Given the description of an element on the screen output the (x, y) to click on. 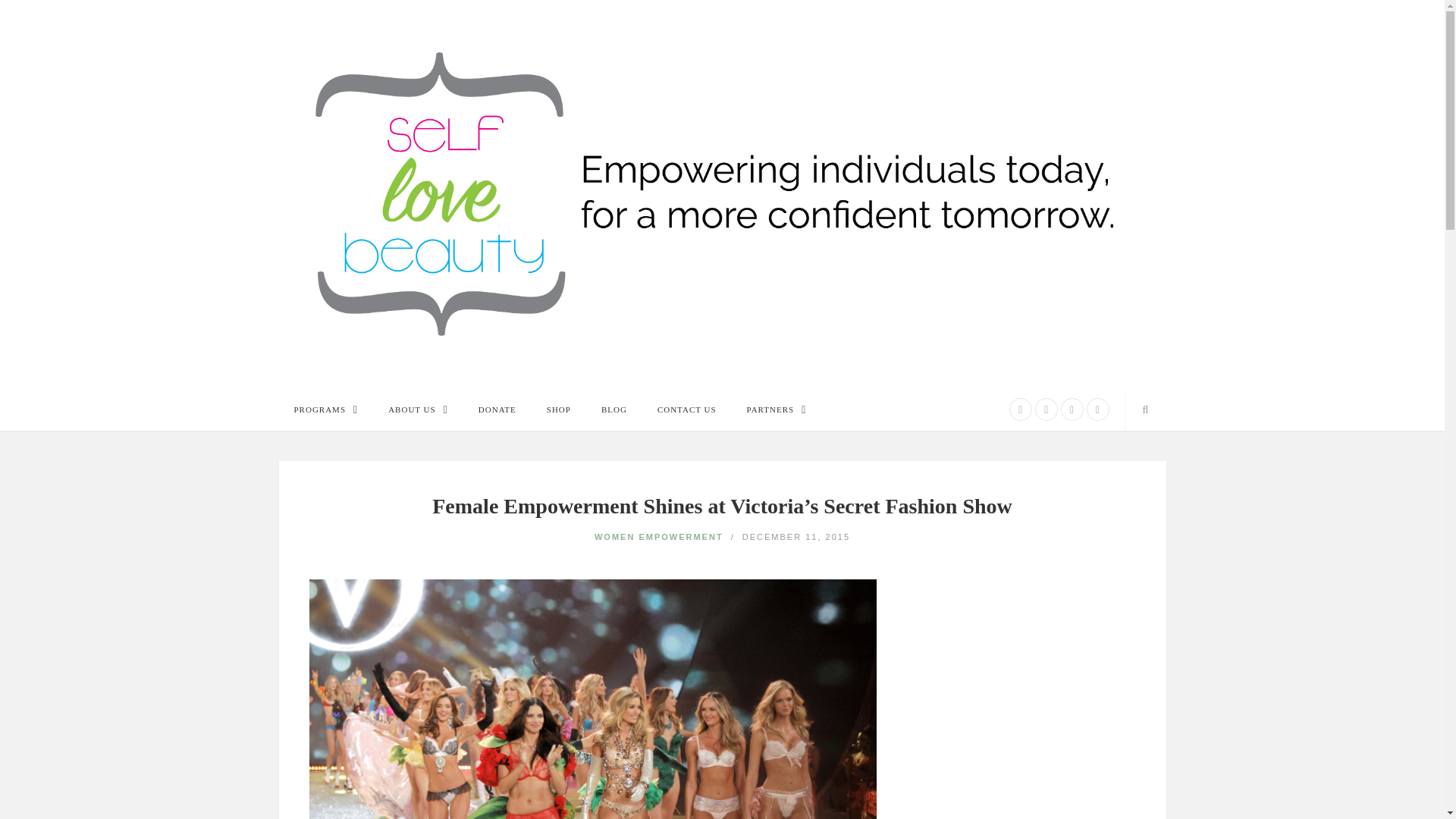
ABOUT US (417, 409)
PROGRAMS (326, 409)
Self Love Beauty (722, 193)
YouTube (1097, 409)
SHOP (558, 409)
Instagram (1046, 409)
DONATE (497, 409)
LinkedIn (1072, 409)
Facebook (1020, 409)
